Given the description of an element on the screen output the (x, y) to click on. 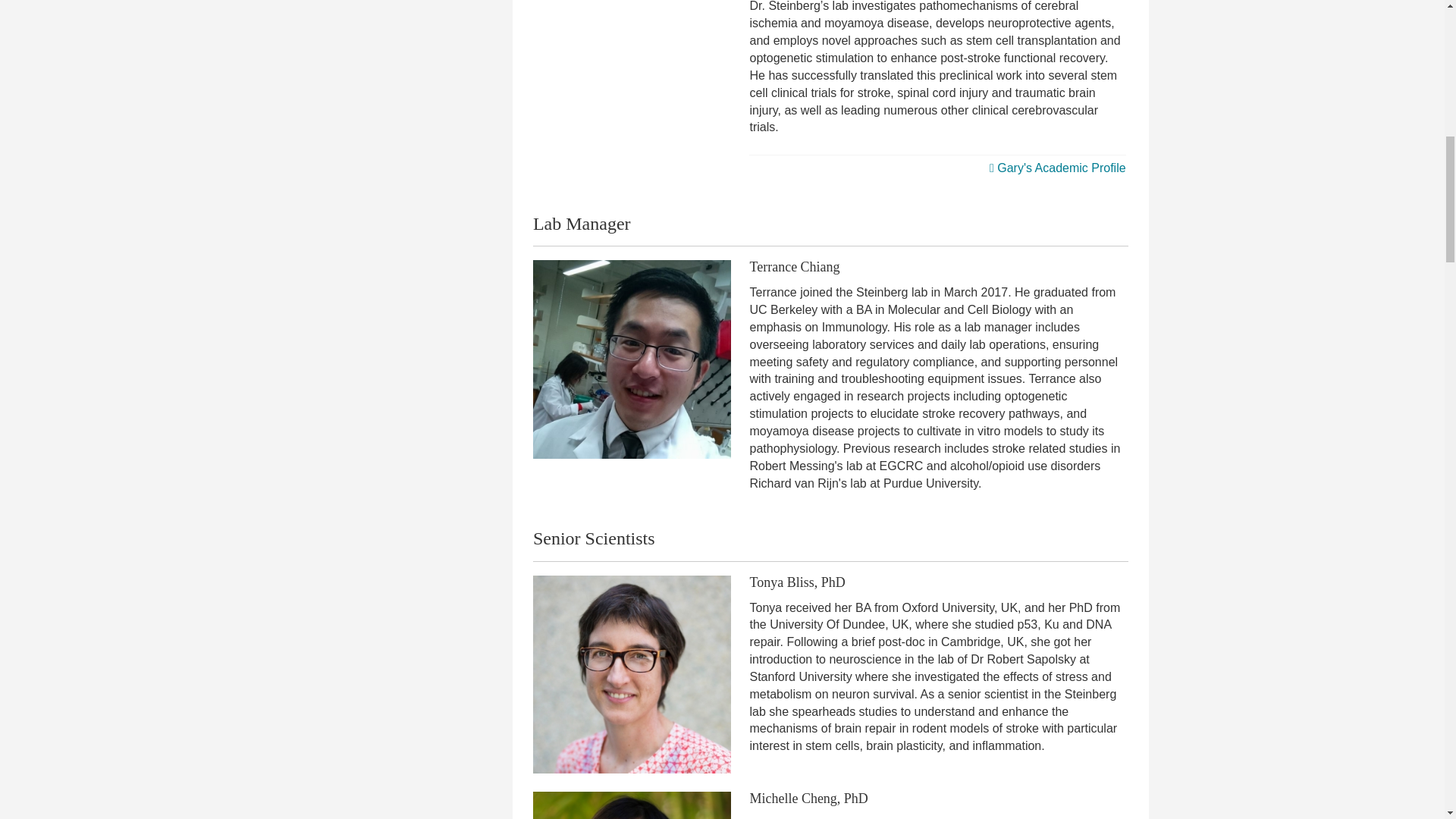
Michelle Cheng  (632, 805)
Terrance Chiang  (632, 359)
Tonya Bliss  (632, 674)
